Given the description of an element on the screen output the (x, y) to click on. 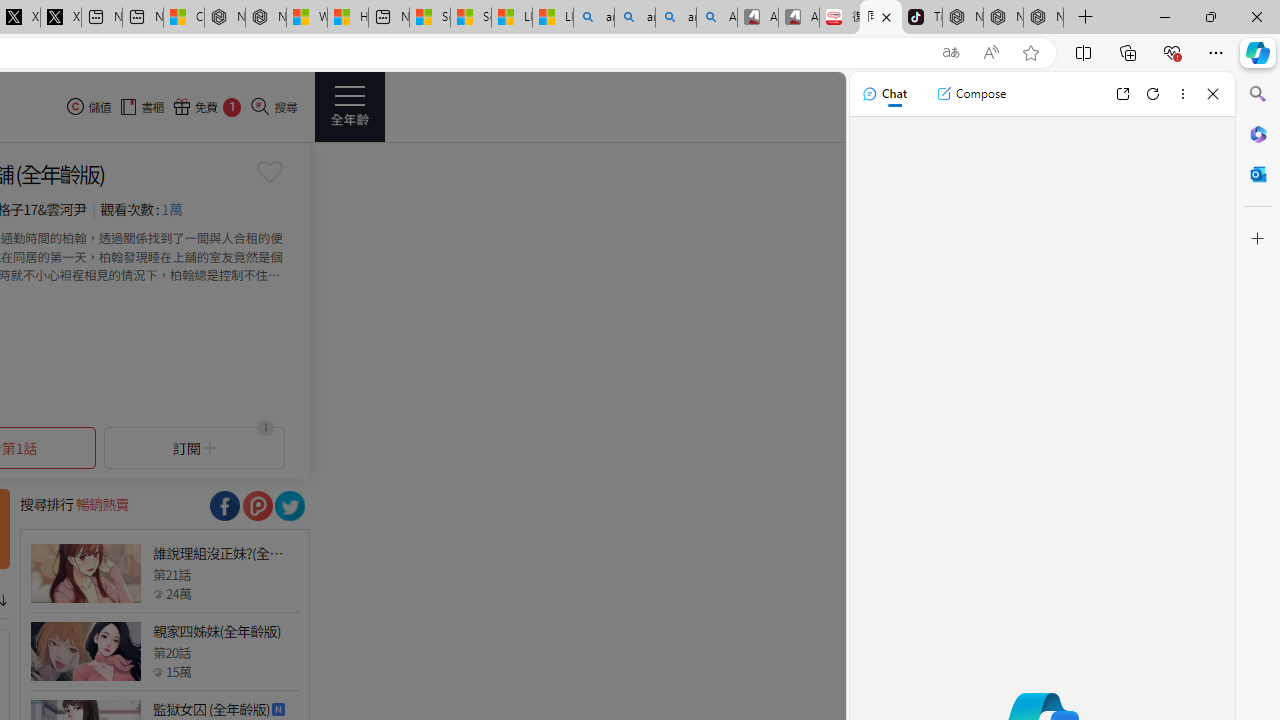
Show translate options (950, 53)
Class: socialShare (289, 506)
Chat (884, 93)
